Given the description of an element on the screen output the (x, y) to click on. 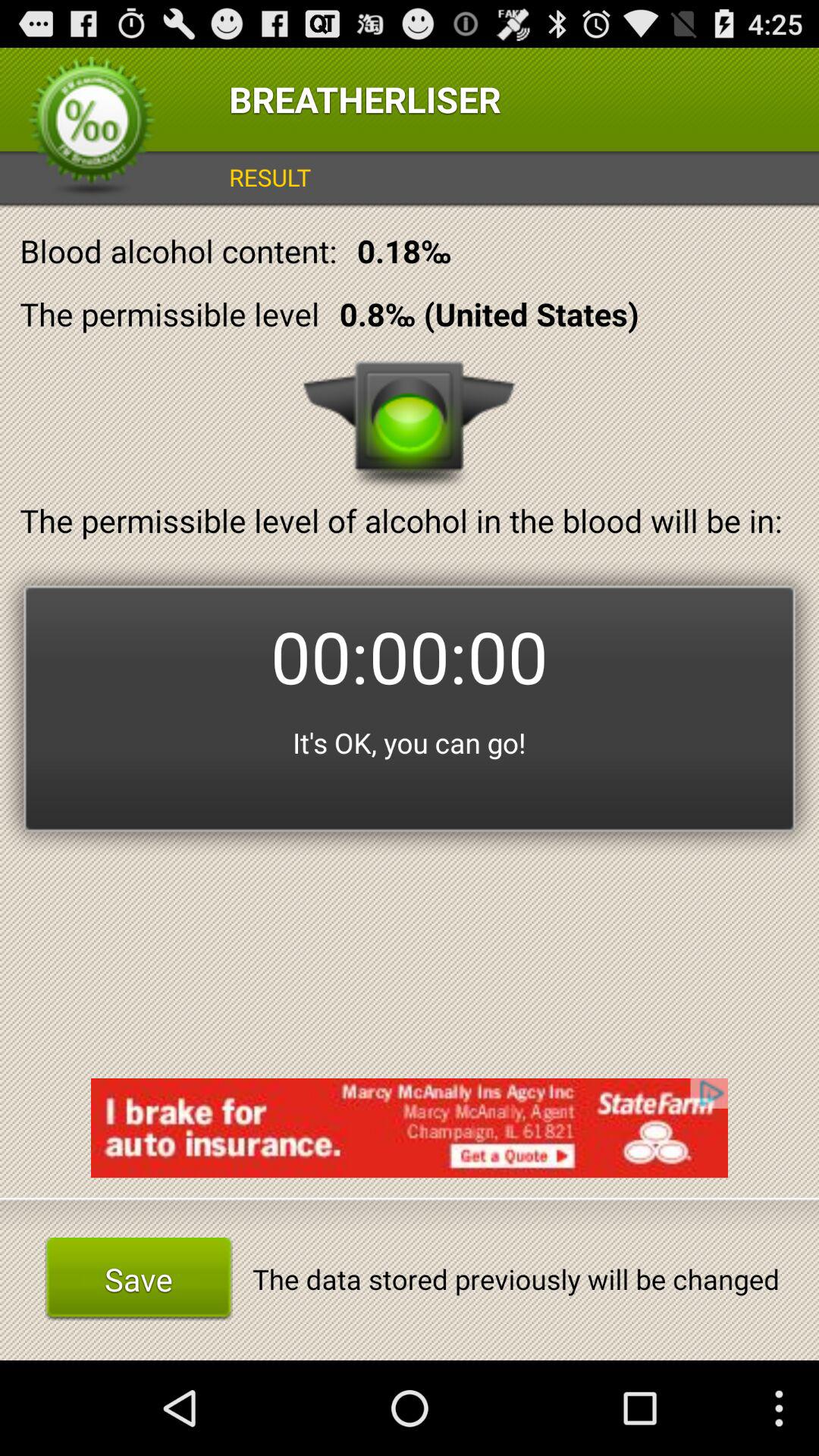
select item at the bottom left corner (138, 1278)
